Given the description of an element on the screen output the (x, y) to click on. 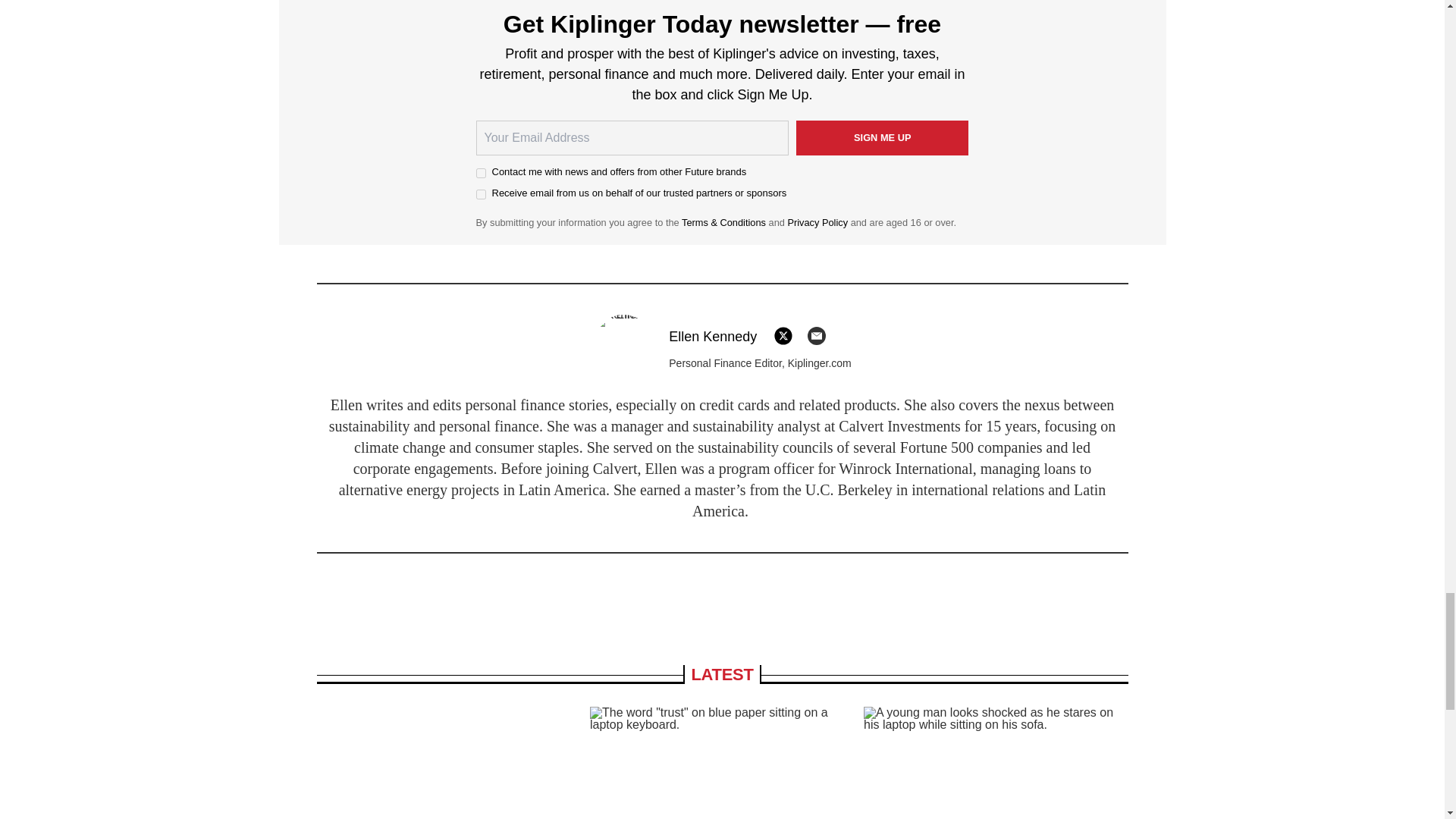
on (481, 173)
on (481, 194)
Sign me up (882, 137)
